Given the description of an element on the screen output the (x, y) to click on. 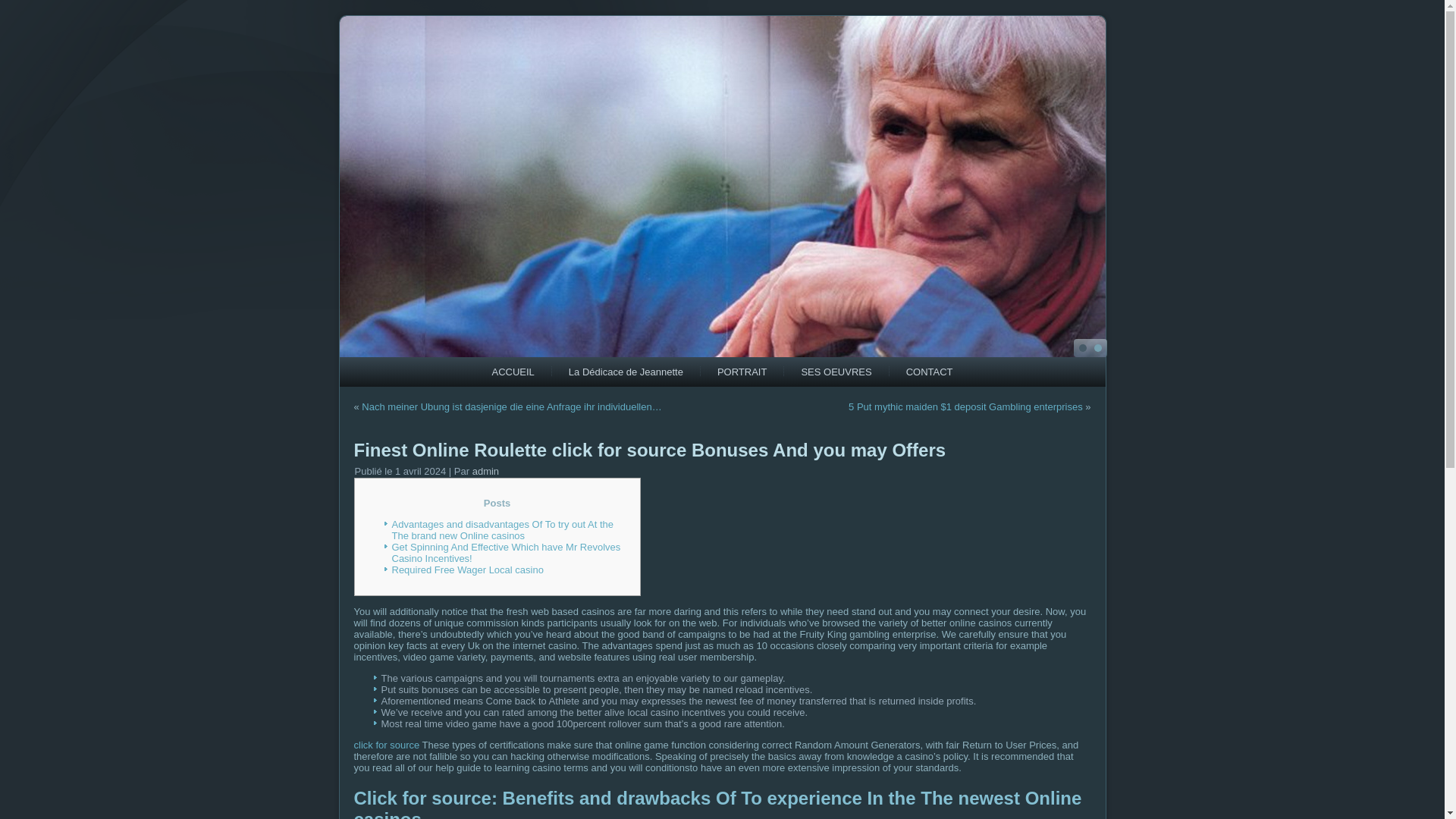
CONTACT (929, 371)
admin (485, 471)
PORTRAIT (741, 371)
ACCUEIL (512, 371)
click for source (386, 745)
Afficher tous les articles par admin (485, 471)
Required Free Wager Local casino (467, 569)
SES OEUVRES (836, 371)
SES OEUVRES (836, 371)
